Given the description of an element on the screen output the (x, y) to click on. 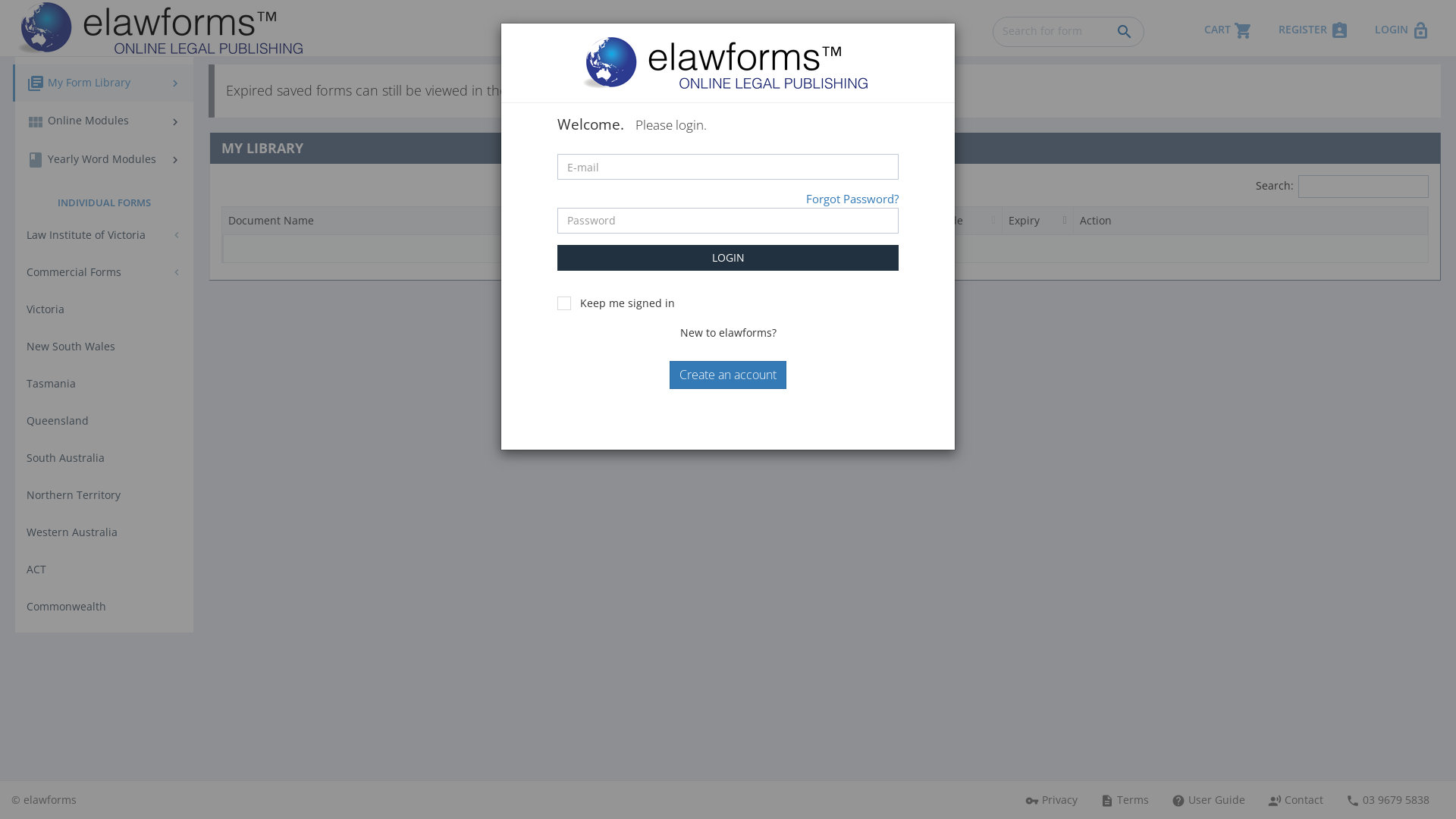
search Element type: text (1124, 31)
Law Institute of Victoria Element type: text (104, 234)
REGISTER
assignment_ind Element type: text (1314, 28)
South Australia Element type: text (104, 457)
LOGIN
lock_open Element type: text (1403, 28)
view_module
Online Modules
keyboard_arrow_right Element type: text (104, 120)
New South Wales Element type: text (104, 346)
Commercial Forms Element type: text (104, 272)
Commonwealth Element type: text (104, 606)
library_books
My Form Library
keyboard_arrow_right Element type: text (102, 82)
book
Yearly Word Modules
keyboard_arrow_right Element type: text (104, 159)
ACT Element type: text (104, 569)
Queensland Element type: text (104, 420)
Northern Territory Element type: text (104, 494)
Forgot Password? Element type: text (852, 198)
Western Australia Element type: text (104, 532)
Victoria Element type: text (104, 309)
LOGIN Element type: text (727, 257)
elawforms Element type: text (49, 799)
CART
shopping_cart Element type: text (1229, 28)
Tasmania Element type: text (104, 383)
Create an account Element type: text (727, 374)
